Given the description of an element on the screen output the (x, y) to click on. 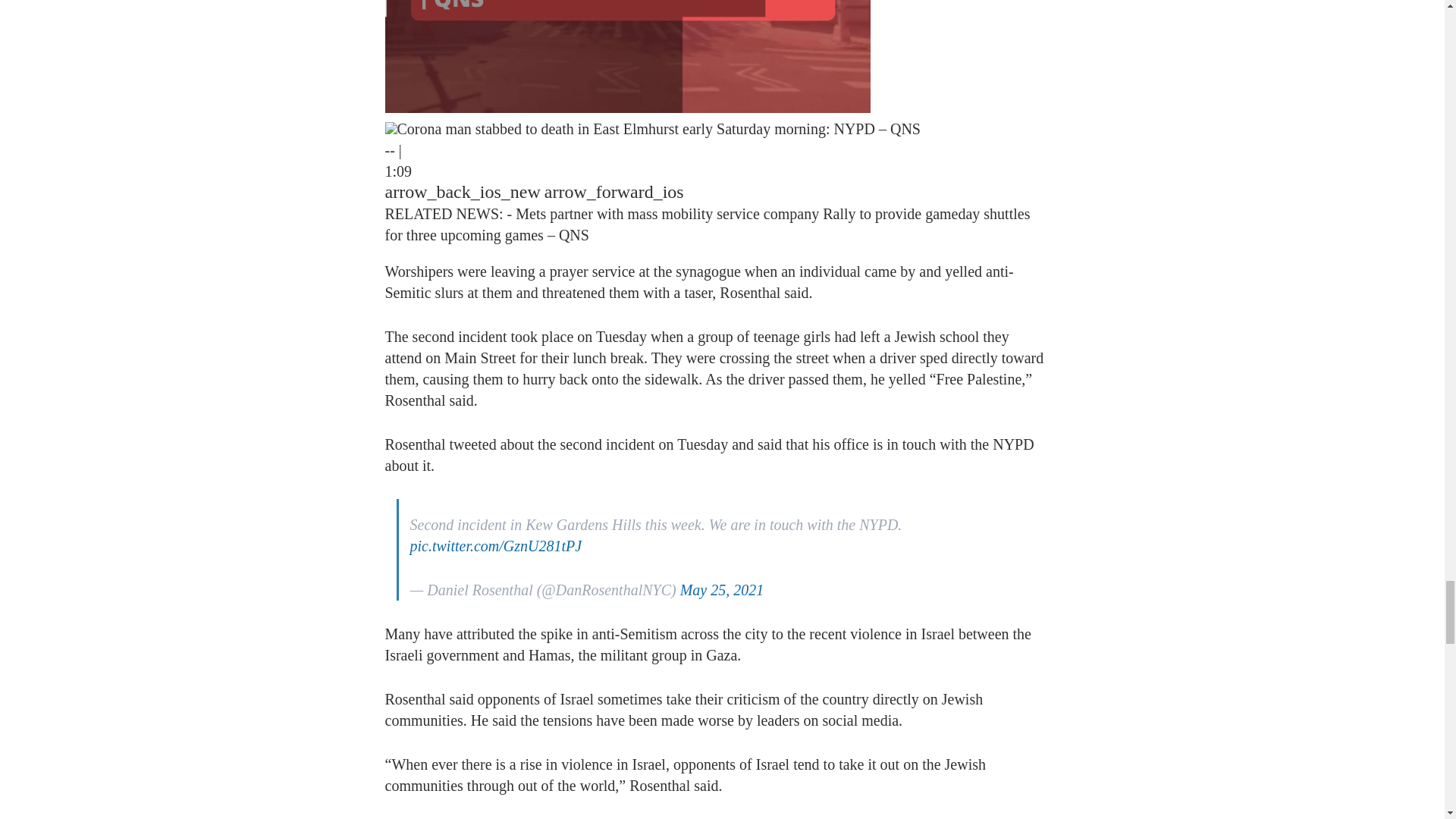
May 25, 2021 (721, 589)
